Given the description of an element on the screen output the (x, y) to click on. 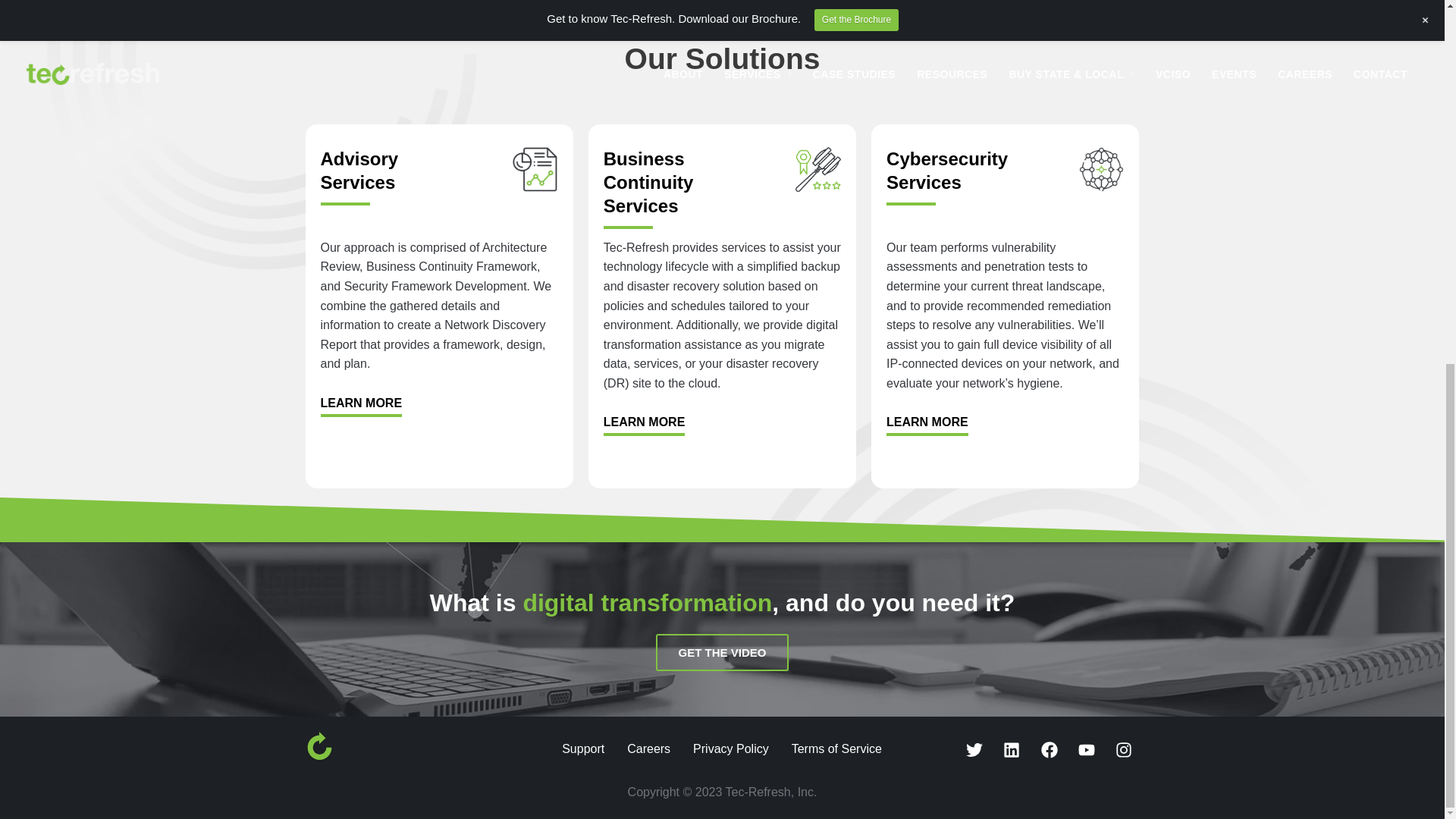
LEARN MORE (927, 425)
GET THE VIDEO (358, 170)
Careers (722, 651)
Privacy Policy (648, 748)
Get the Video (730, 748)
LEARN MORE (946, 170)
Support (722, 651)
Terms of Service (649, 182)
LEARN MORE (644, 425)
